Given the description of an element on the screen output the (x, y) to click on. 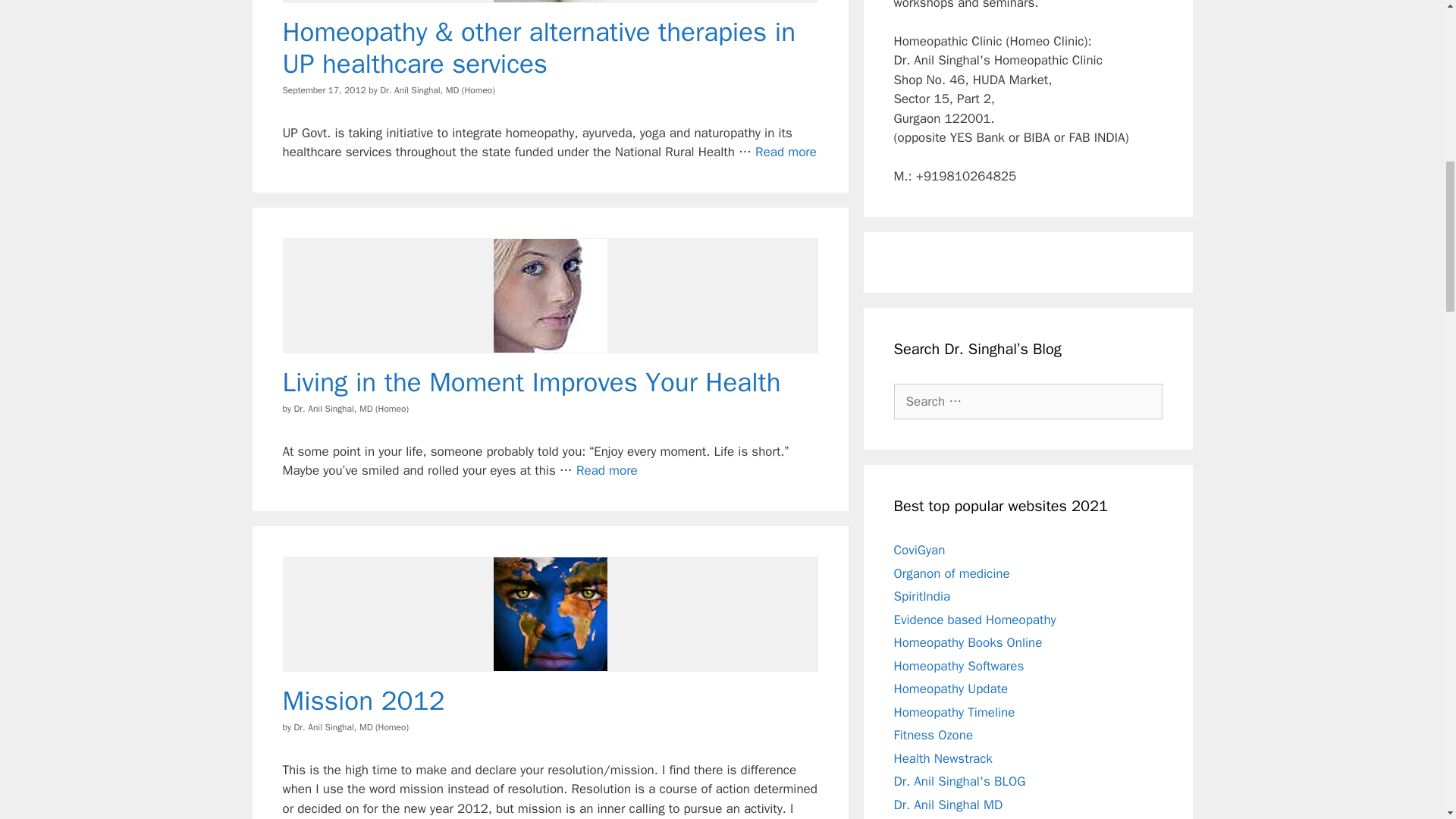
Mission 2012 (363, 700)
Living in the Moment Improves Your Health (606, 470)
Living in the Moment Improves Your Health (531, 381)
Read more (606, 470)
Read more (785, 151)
